Given the description of an element on the screen output the (x, y) to click on. 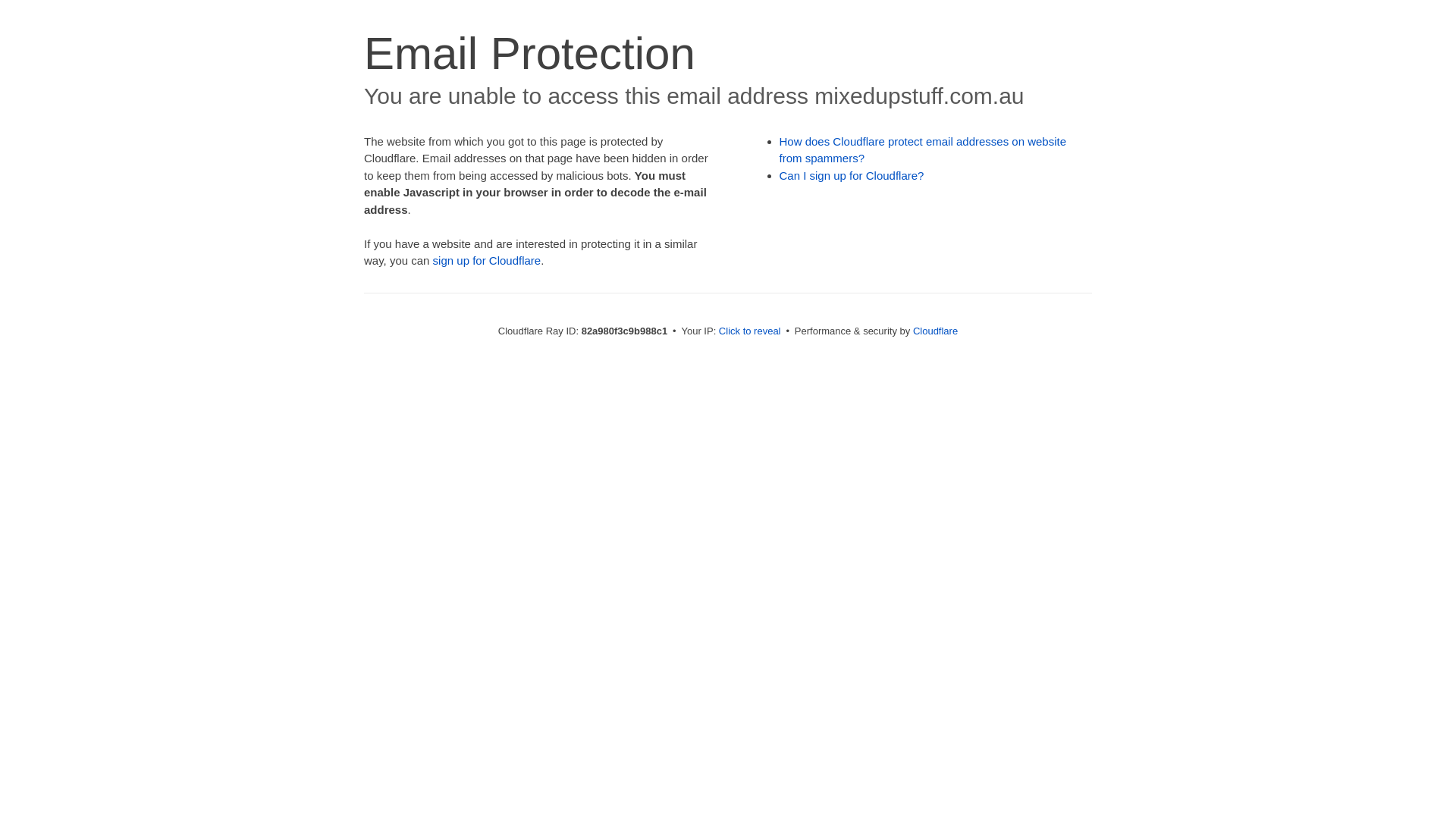
Can I sign up for Cloudflare? Element type: text (851, 175)
Cloudflare Element type: text (935, 330)
Click to reveal Element type: text (749, 330)
sign up for Cloudflare Element type: text (487, 260)
